Given the description of an element on the screen output the (x, y) to click on. 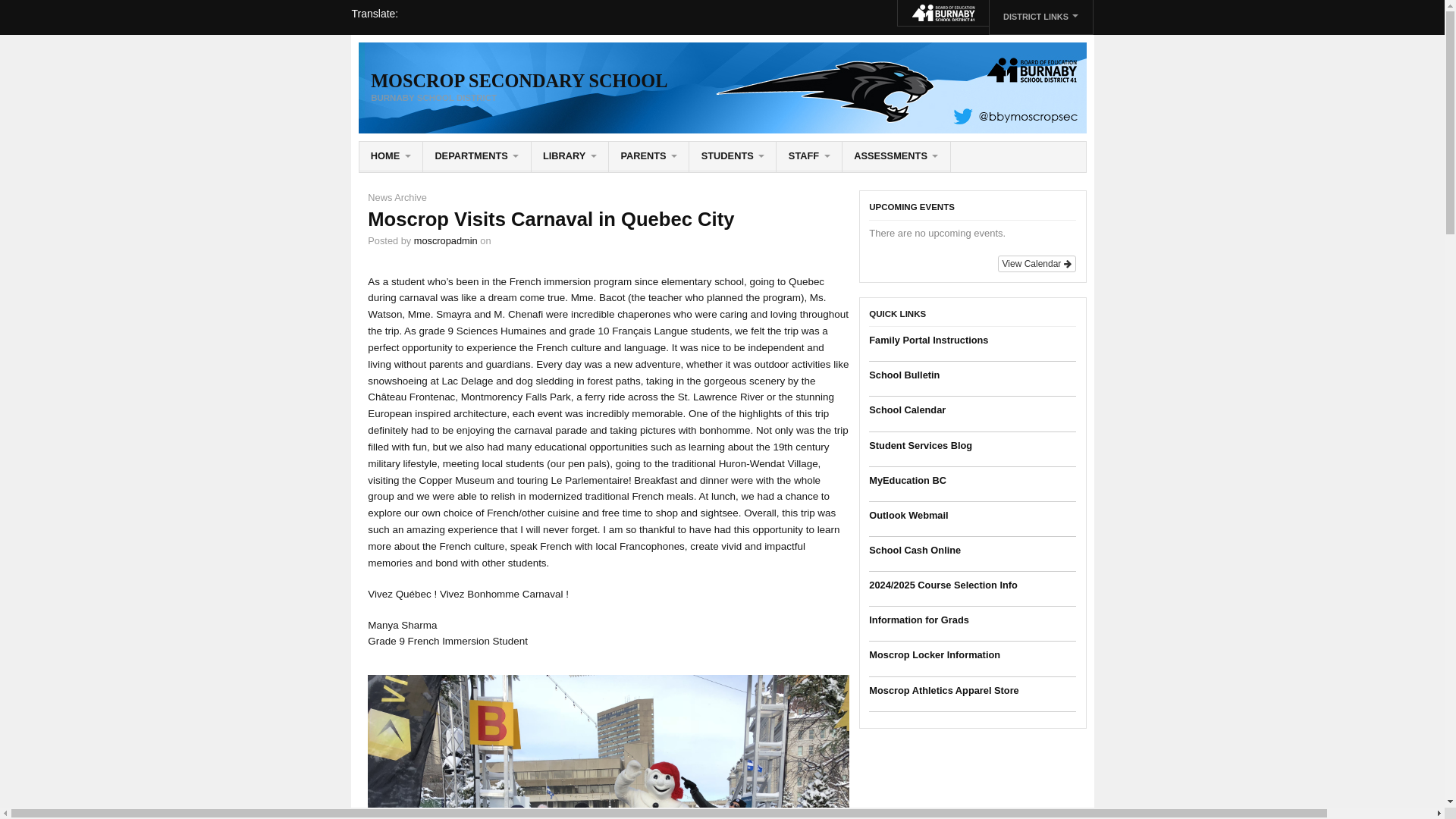
Password reset (732, 156)
HOME (391, 156)
MOSCROP SECONDARY SCHOOL (518, 80)
DEPARTMENTS (477, 156)
moscropadmin (445, 240)
DISTRICT LINKS (1039, 17)
